Given the description of an element on the screen output the (x, y) to click on. 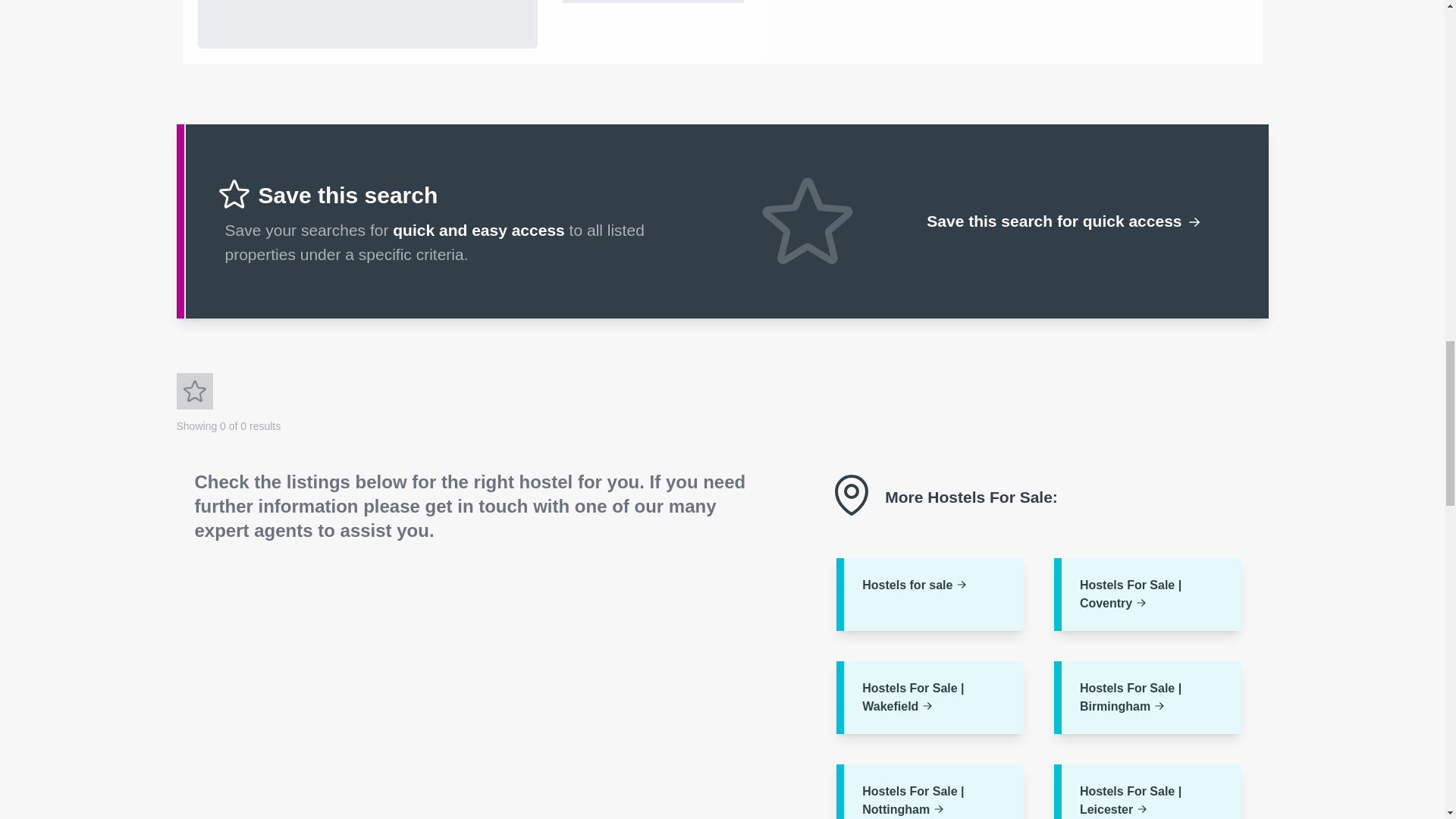
Hostels for sale (929, 593)
Save this search (194, 391)
Save this search for quick access (1063, 221)
